Given the description of an element on the screen output the (x, y) to click on. 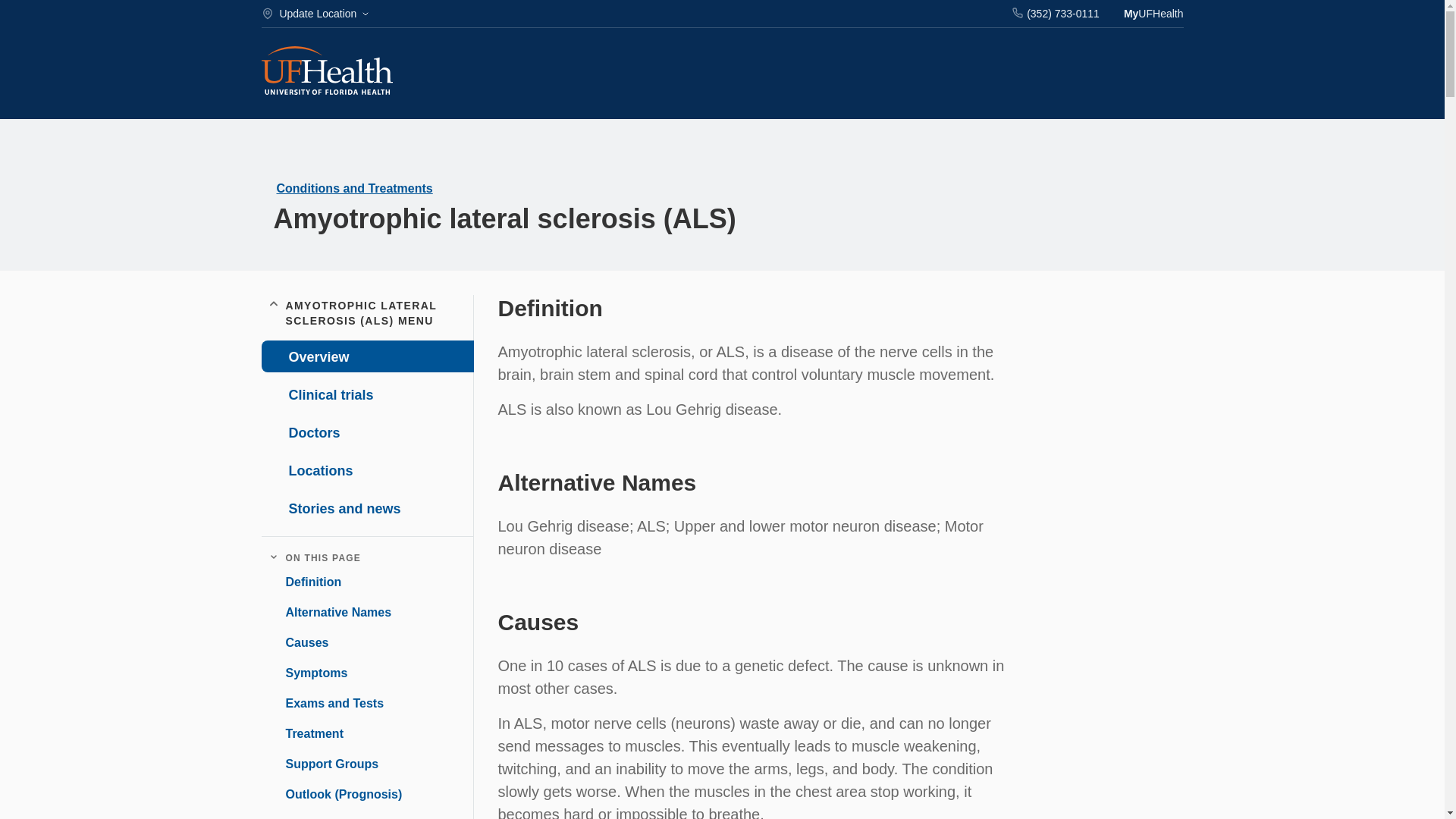
Stories and news (365, 508)
Definition (306, 582)
Treatment (307, 733)
Collapse navigation (272, 557)
Causes (300, 642)
Conditions and Treatments (354, 187)
Overview (366, 356)
Doctors (365, 431)
Possible Complications (346, 816)
Locations (365, 470)
